Given the description of an element on the screen output the (x, y) to click on. 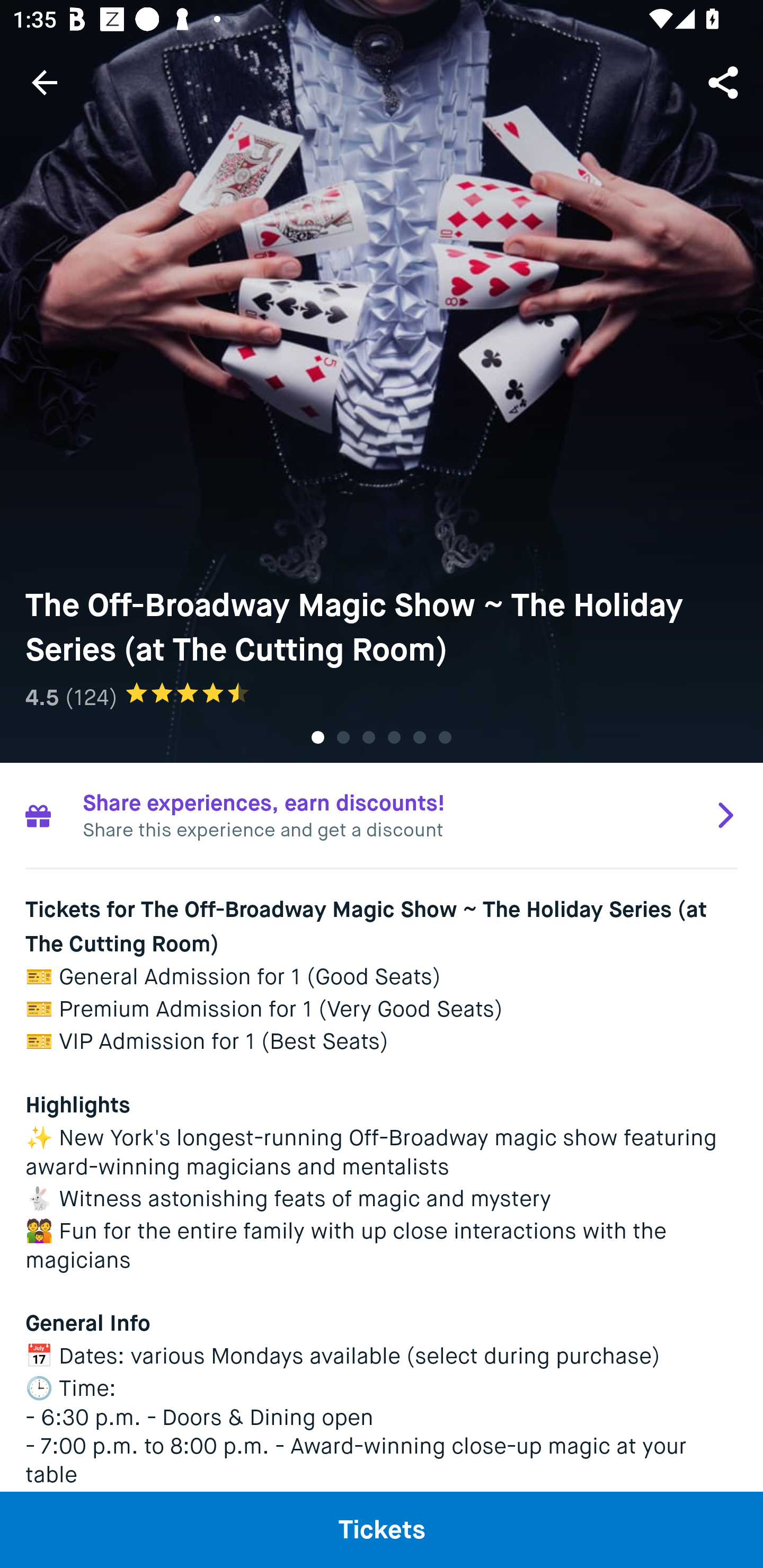
Navigate up (44, 82)
Share (724, 81)
(124) (90, 697)
Tickets (381, 1529)
